Given the description of an element on the screen output the (x, y) to click on. 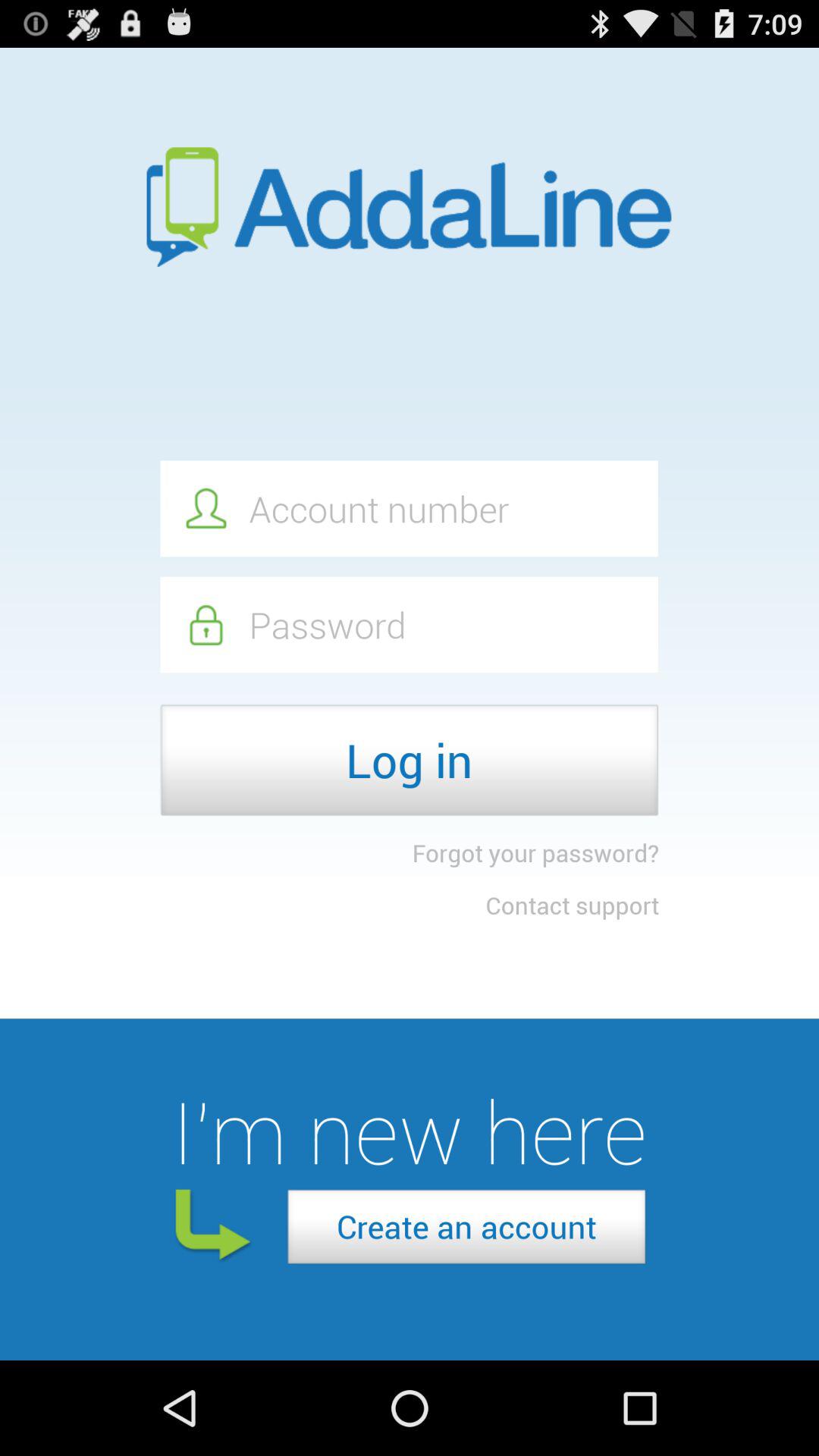
jump to the contact support (572, 904)
